Given the description of an element on the screen output the (x, y) to click on. 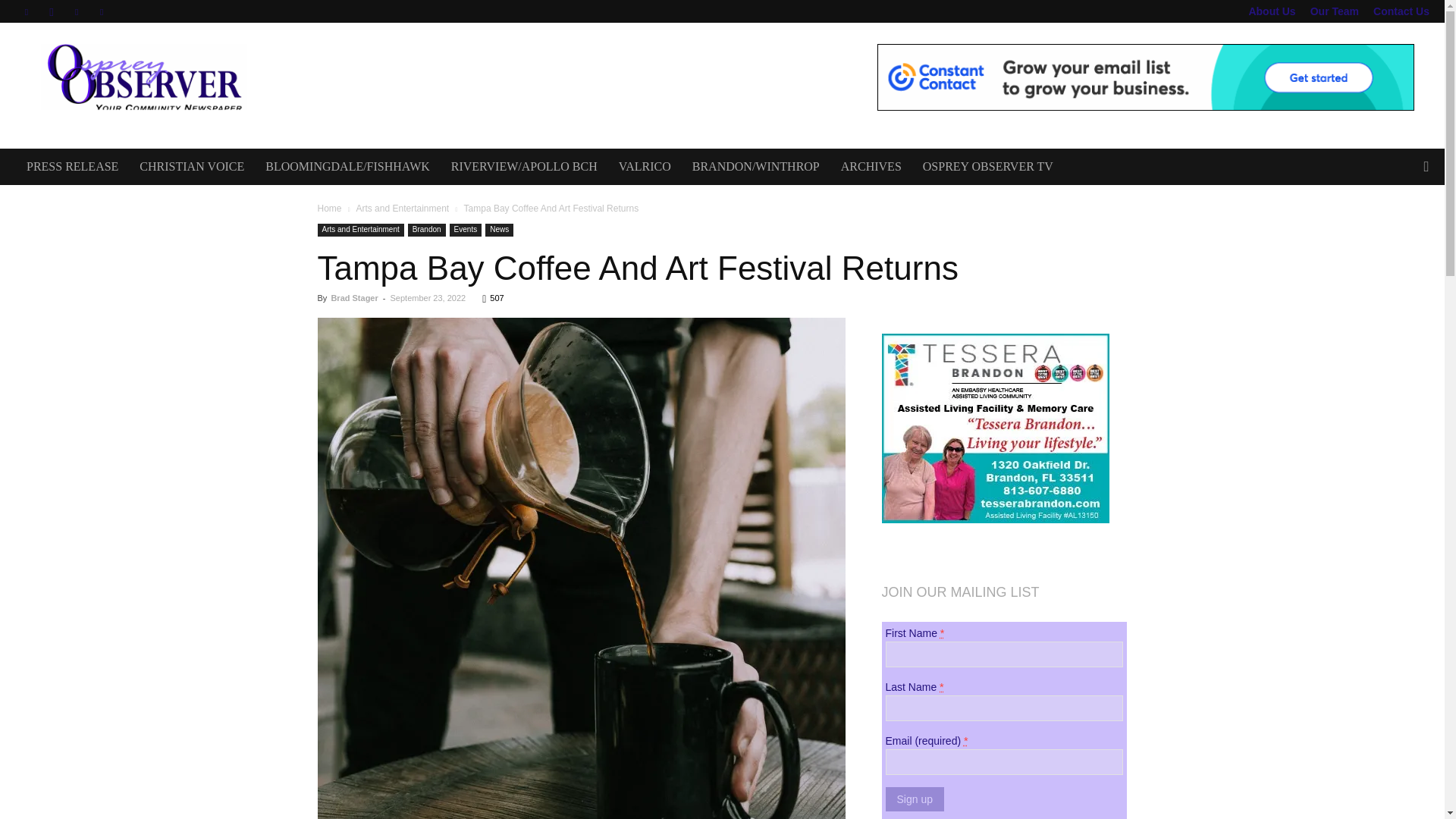
Youtube (101, 11)
Twitter (76, 11)
Our Team (1334, 10)
Sign up (914, 799)
Facebook (25, 11)
Instagram (51, 11)
View all posts in Arts and Entertainment (401, 208)
About Us (1271, 10)
